Given the description of an element on the screen output the (x, y) to click on. 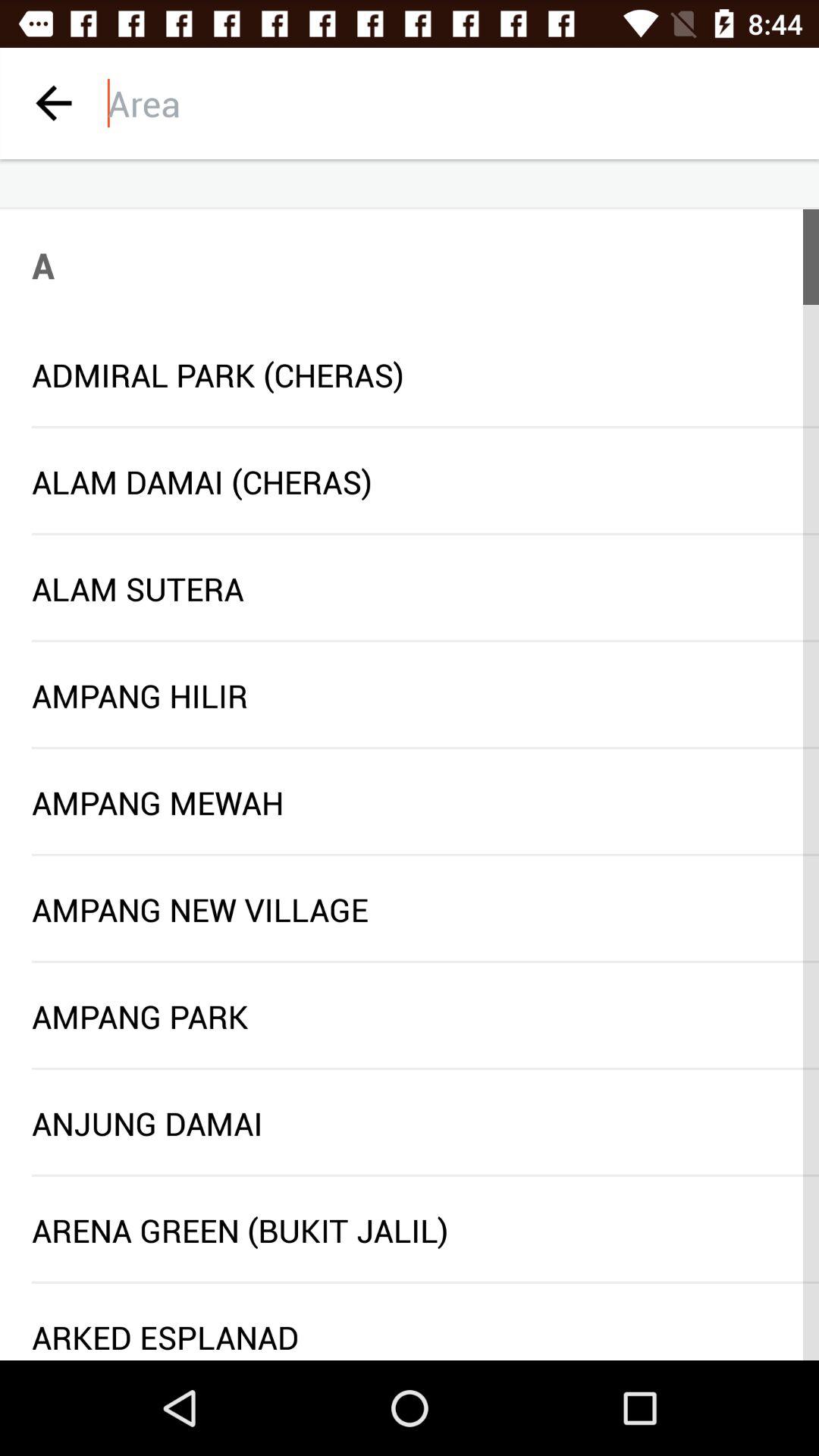
back (53, 103)
